Given the description of an element on the screen output the (x, y) to click on. 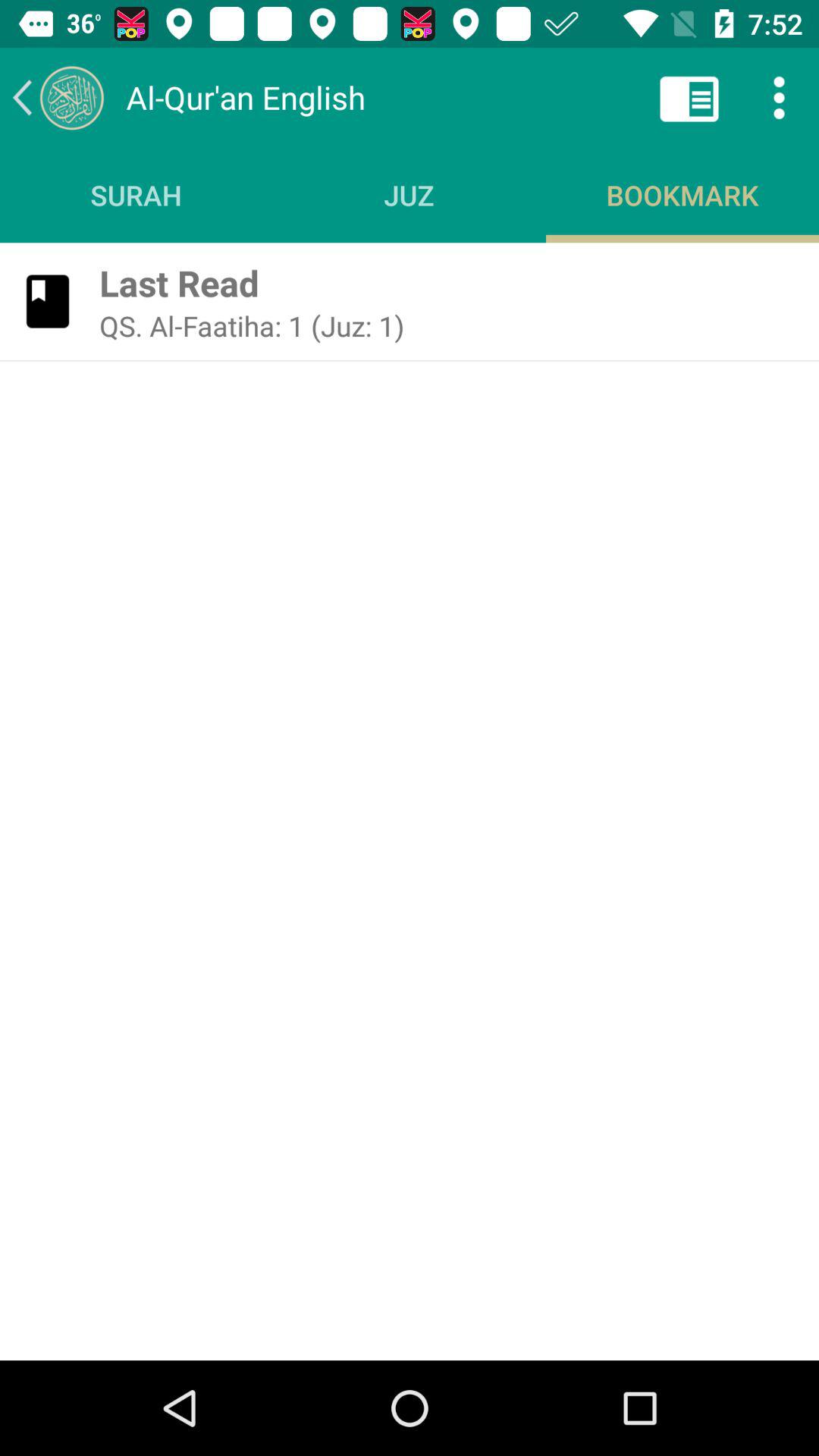
launch the icon to the left of the al qur an (58, 97)
